Given the description of an element on the screen output the (x, y) to click on. 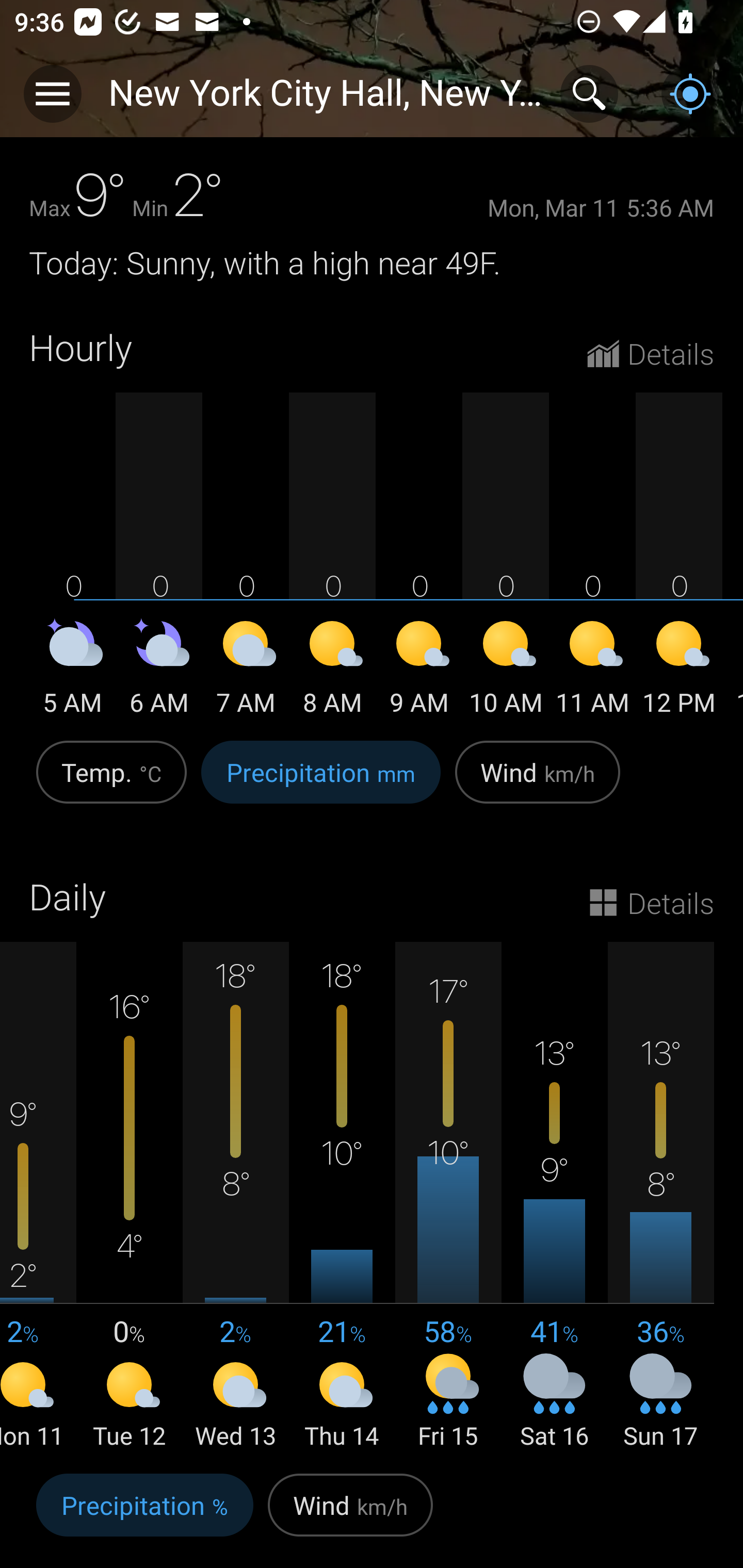
5 AM (71, 670)
6 AM (158, 670)
7 AM (245, 670)
8 AM (332, 670)
9 AM (418, 670)
10 AM (505, 670)
11 AM (592, 670)
12 PM (679, 670)
Temp. °C (110, 782)
Precipitation mm (320, 782)
Wind km/h (537, 782)
9° 2° 2 % Mon 11 (38, 1196)
16° 4° 0 % Tue 12 (129, 1196)
18° 8° 2 % Wed 13 (235, 1196)
18° 10° 21 % Thu 14 (342, 1196)
17° 10° 58 % Fri 15 (448, 1196)
13° 9° 41 % Sat 16 (554, 1196)
13° 8° 36 % Sun 17 (660, 1196)
Precipitation % (144, 1515)
Wind km/h (349, 1515)
